Given the description of an element on the screen output the (x, y) to click on. 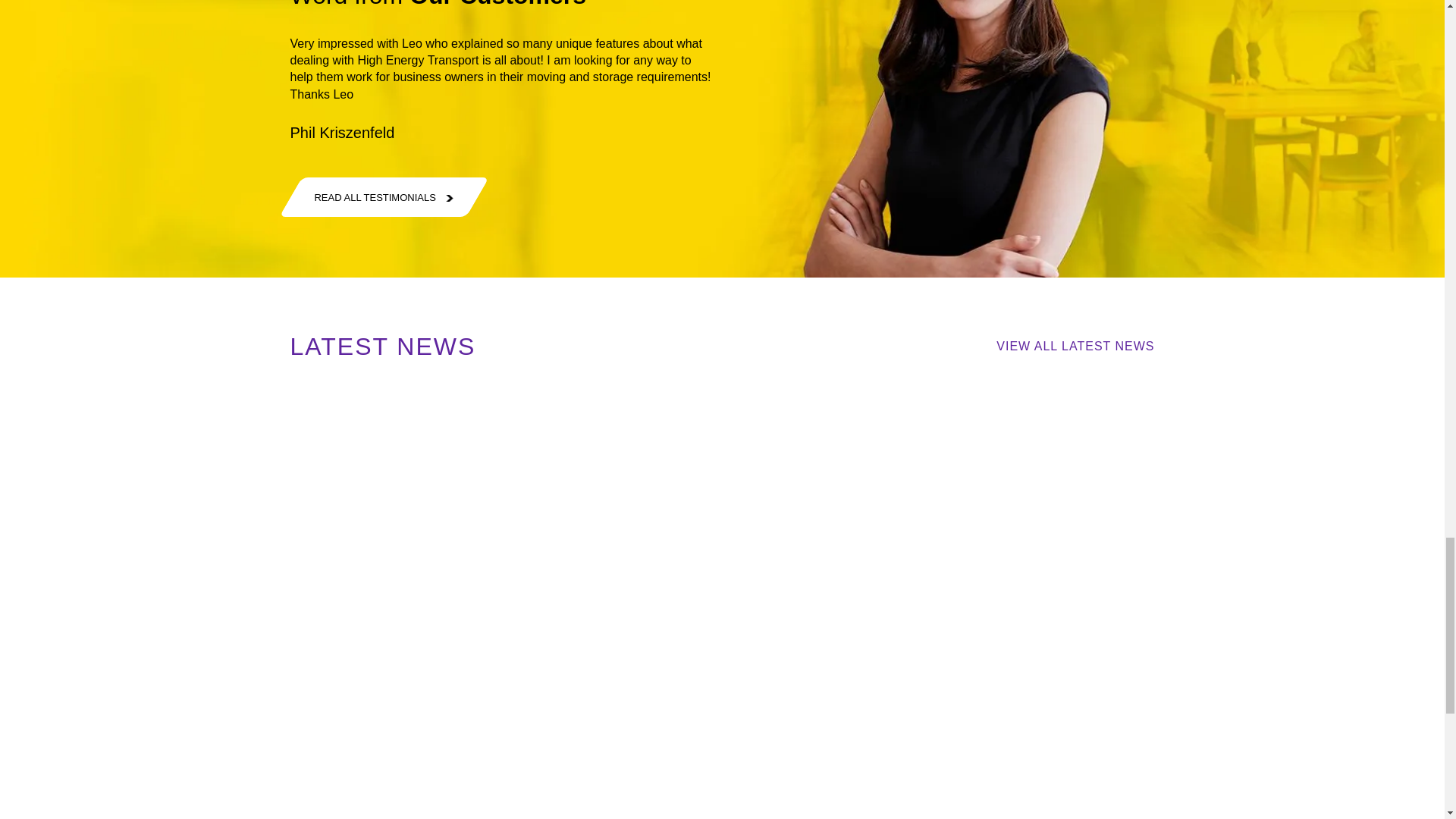
VIEW ALL LATEST NEWS (1074, 346)
Read all testimonials (371, 197)
View All Latest News (1074, 346)
READ ALL TESTIMONIALS (371, 197)
